Given the description of an element on the screen output the (x, y) to click on. 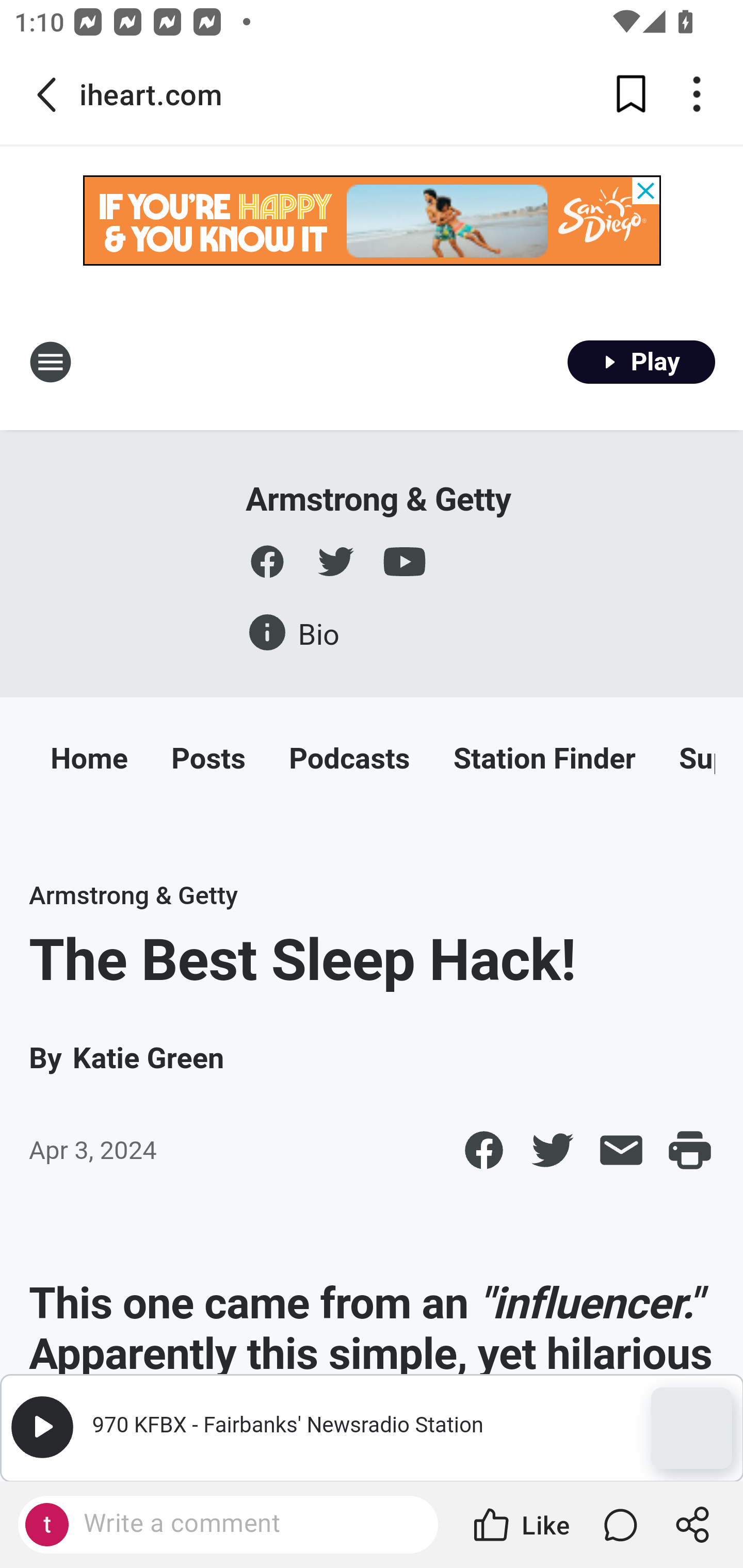
Like (519, 1524)
Write a comment (227, 1524)
Write a comment (245, 1523)
